Given the description of an element on the screen output the (x, y) to click on. 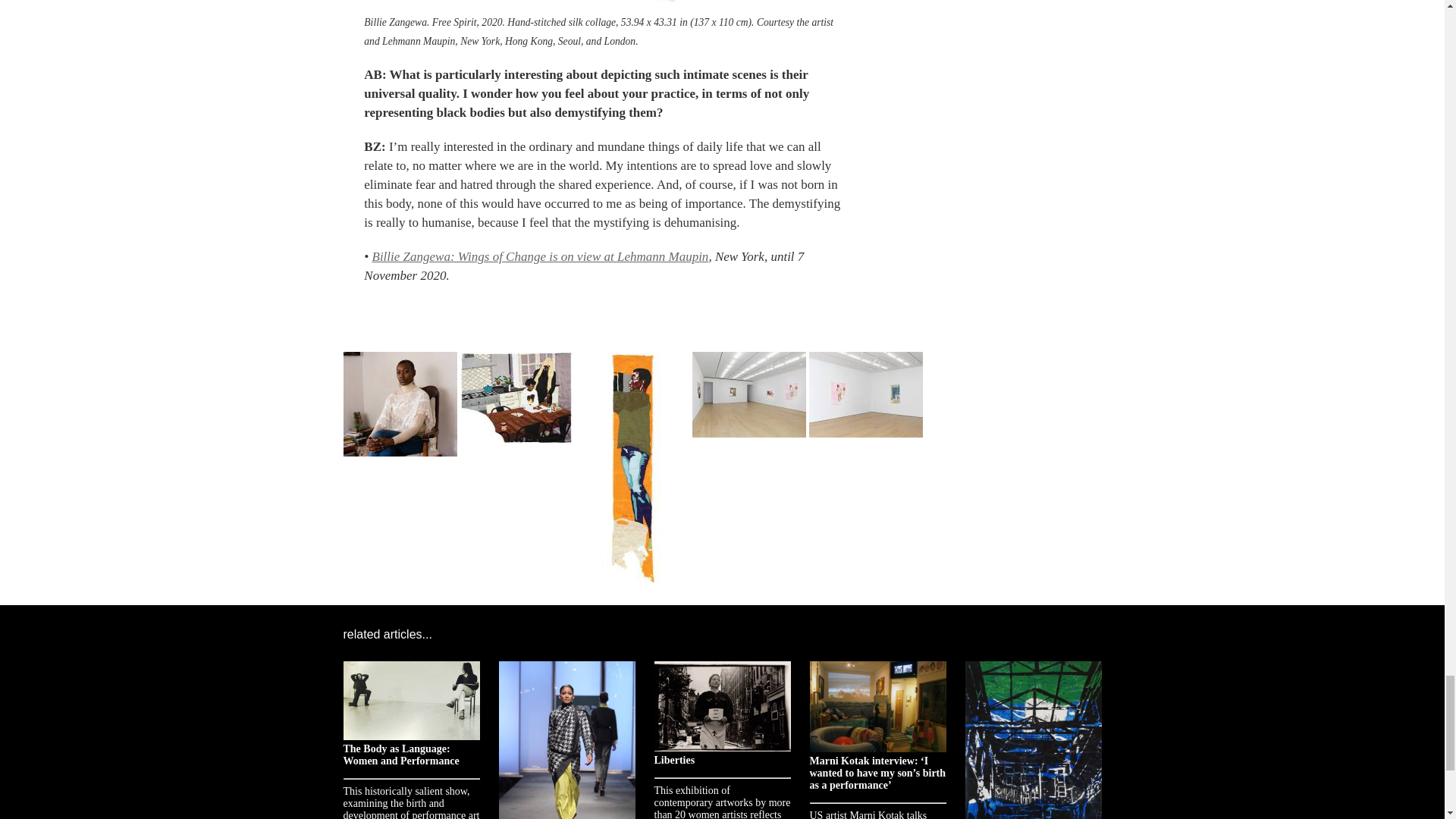
Billie Zangewa: Wings of Change is on view at Lehmann Maupin (539, 256)
